Given the description of an element on the screen output the (x, y) to click on. 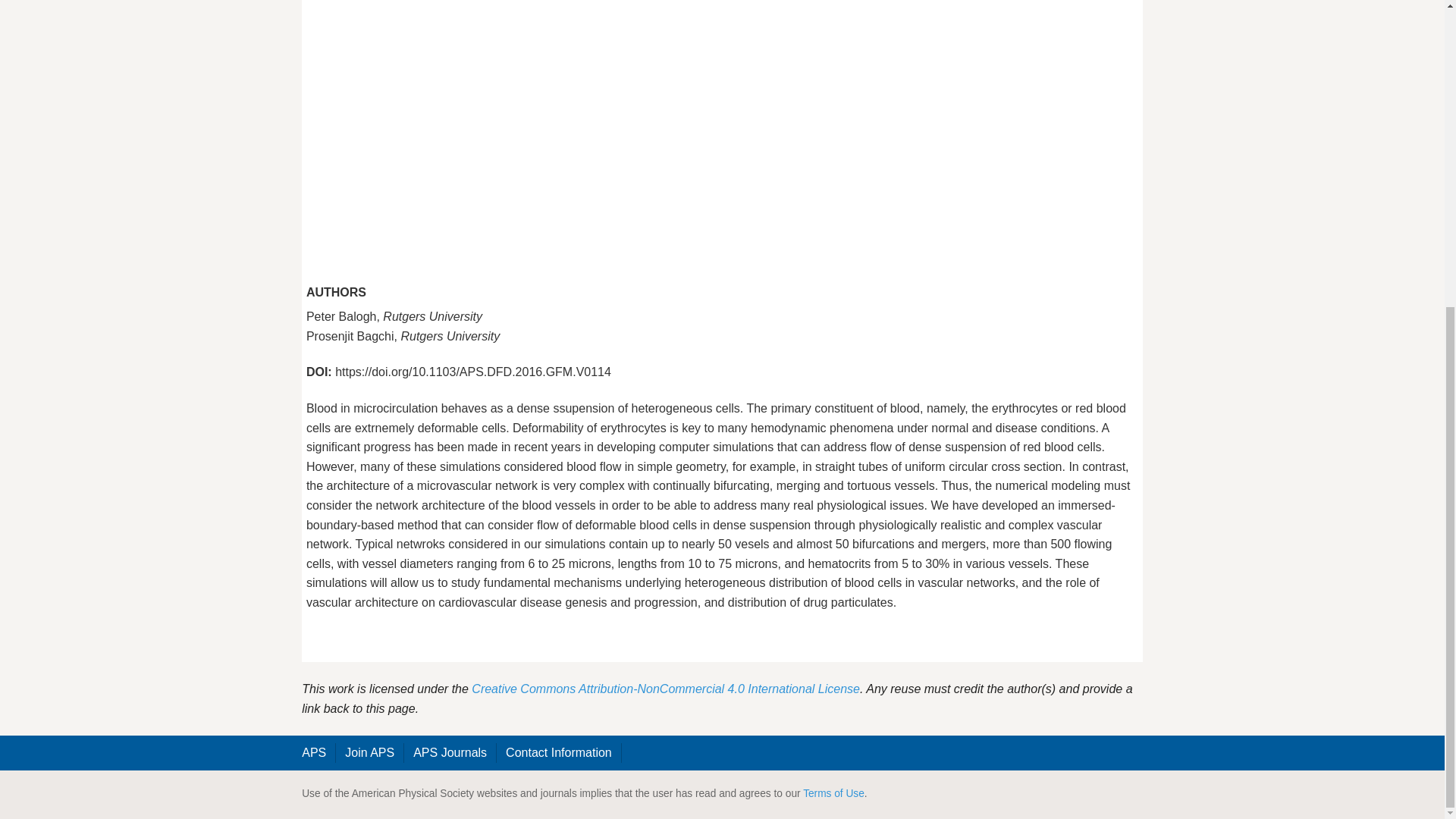
APS Journals (449, 752)
Contact Information (558, 752)
APS (313, 752)
Terms of Use (833, 793)
Join APS (369, 752)
